Given the description of an element on the screen output the (x, y) to click on. 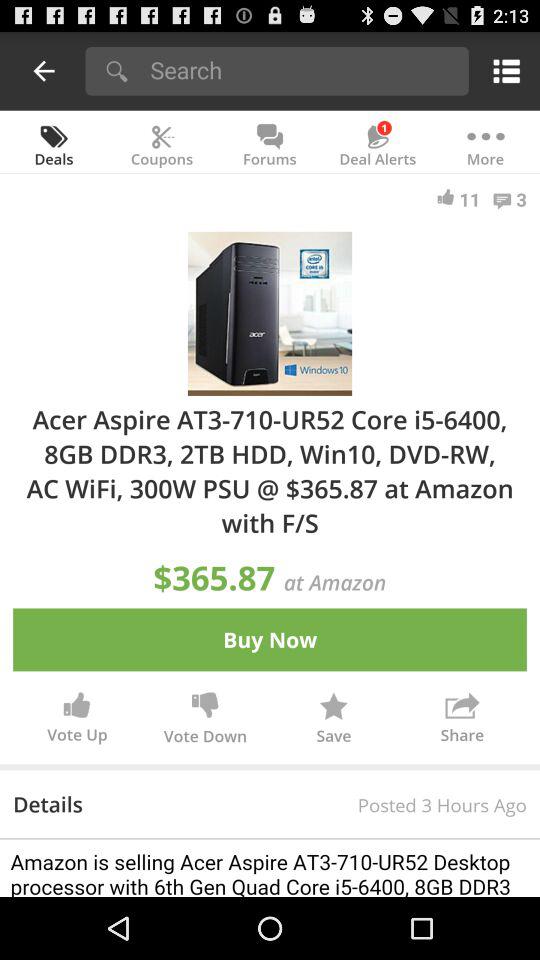
view details (270, 868)
